Given the description of an element on the screen output the (x, y) to click on. 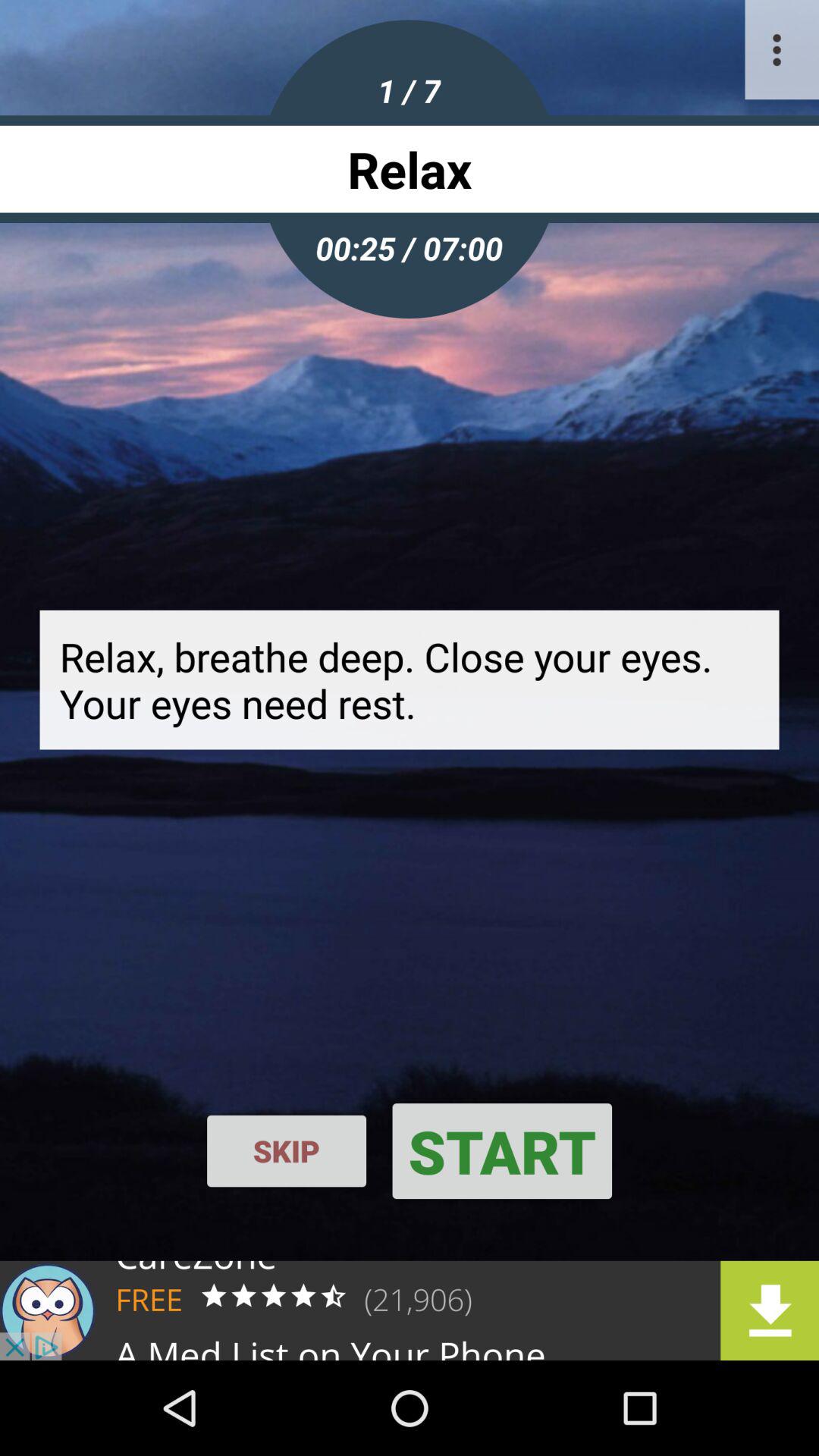
advertisement banner (409, 1310)
